Given the description of an element on the screen output the (x, y) to click on. 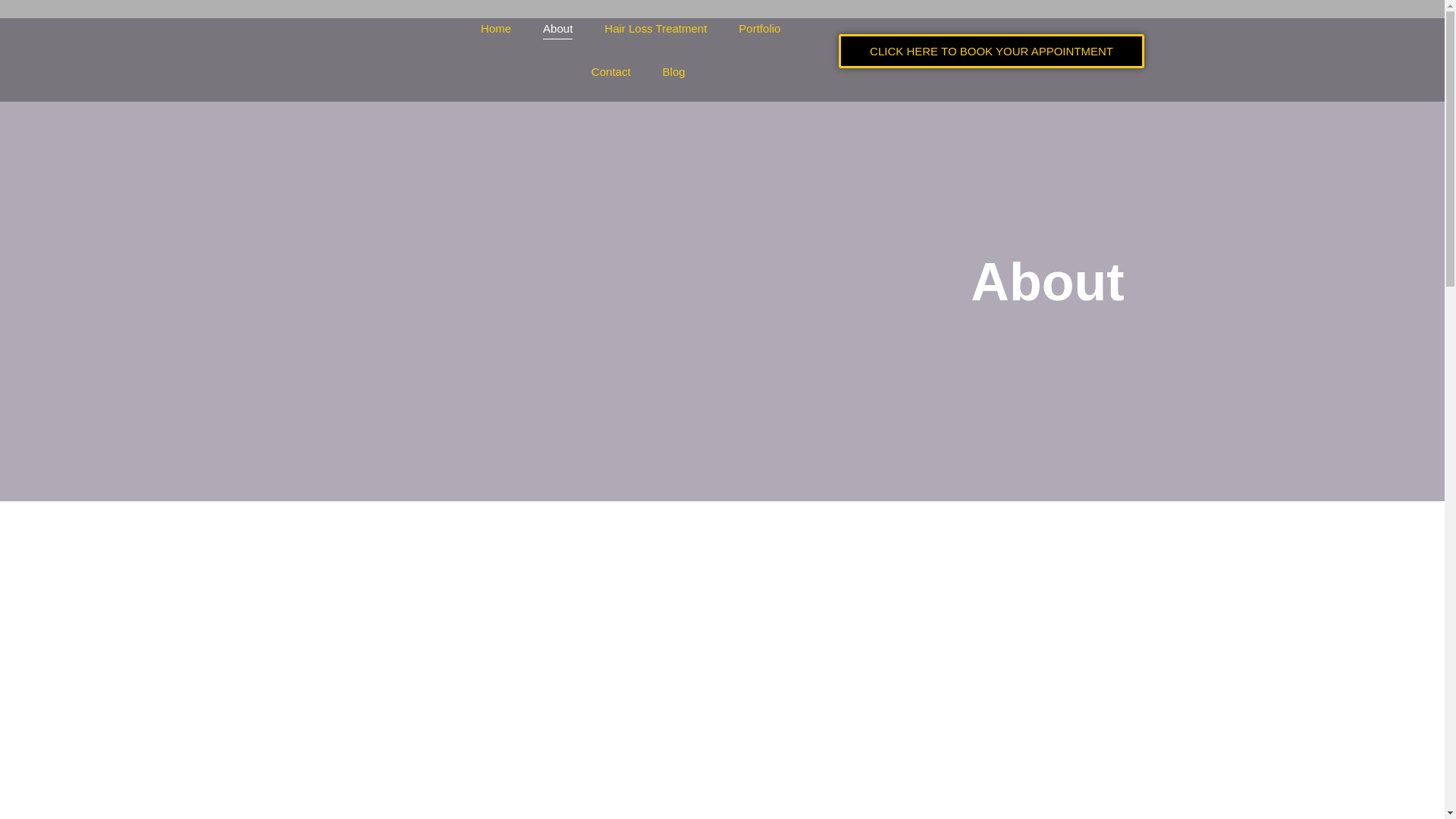
Blog (673, 72)
Portfolio (759, 28)
Home (495, 28)
About (557, 28)
Hair Loss Treatment (654, 28)
CLICK HERE TO BOOK YOUR APPOINTMENT (990, 50)
Contact (611, 72)
